Given the description of an element on the screen output the (x, y) to click on. 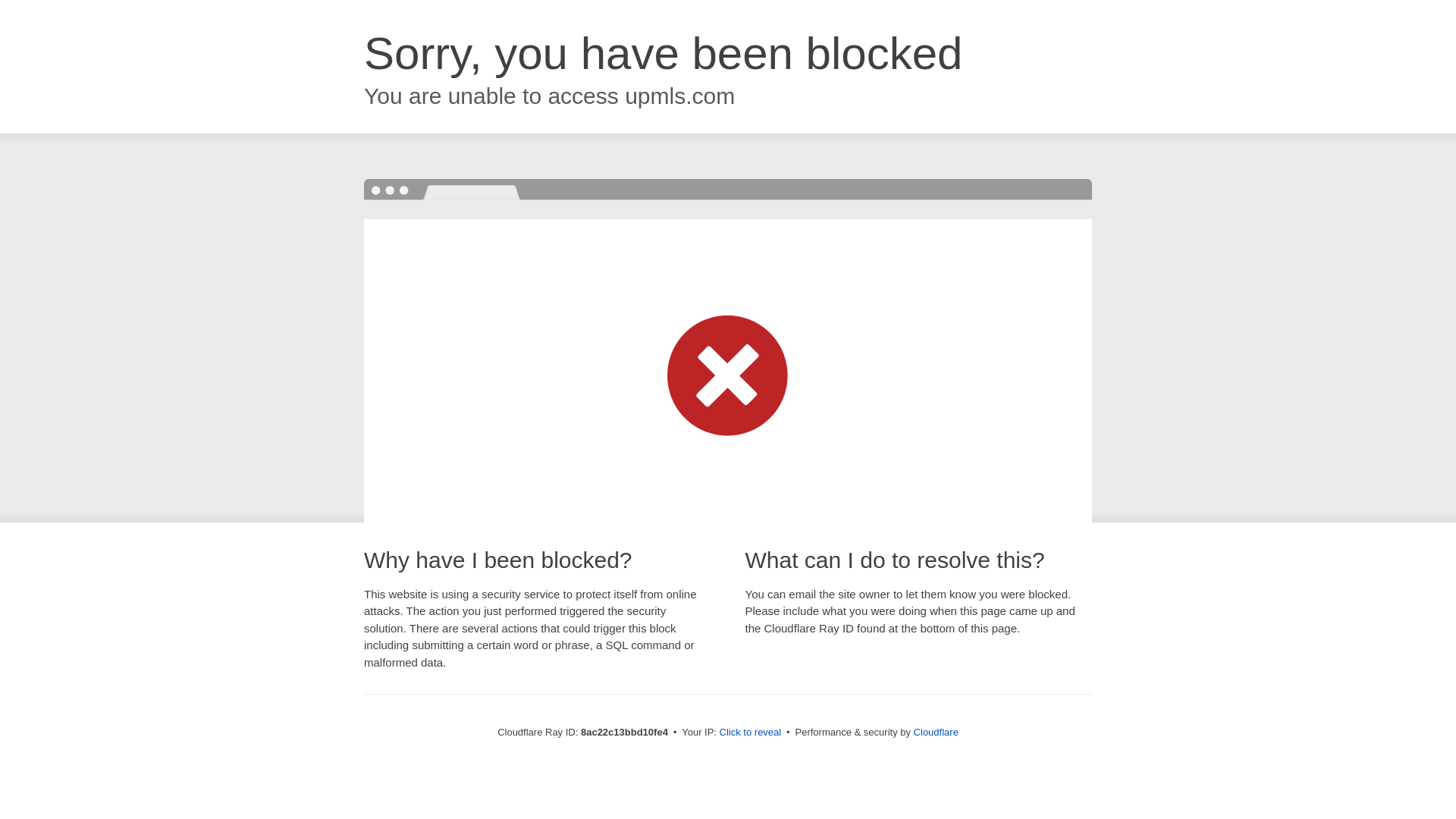
Click to reveal (750, 732)
Cloudflare (936, 731)
